Given the description of an element on the screen output the (x, y) to click on. 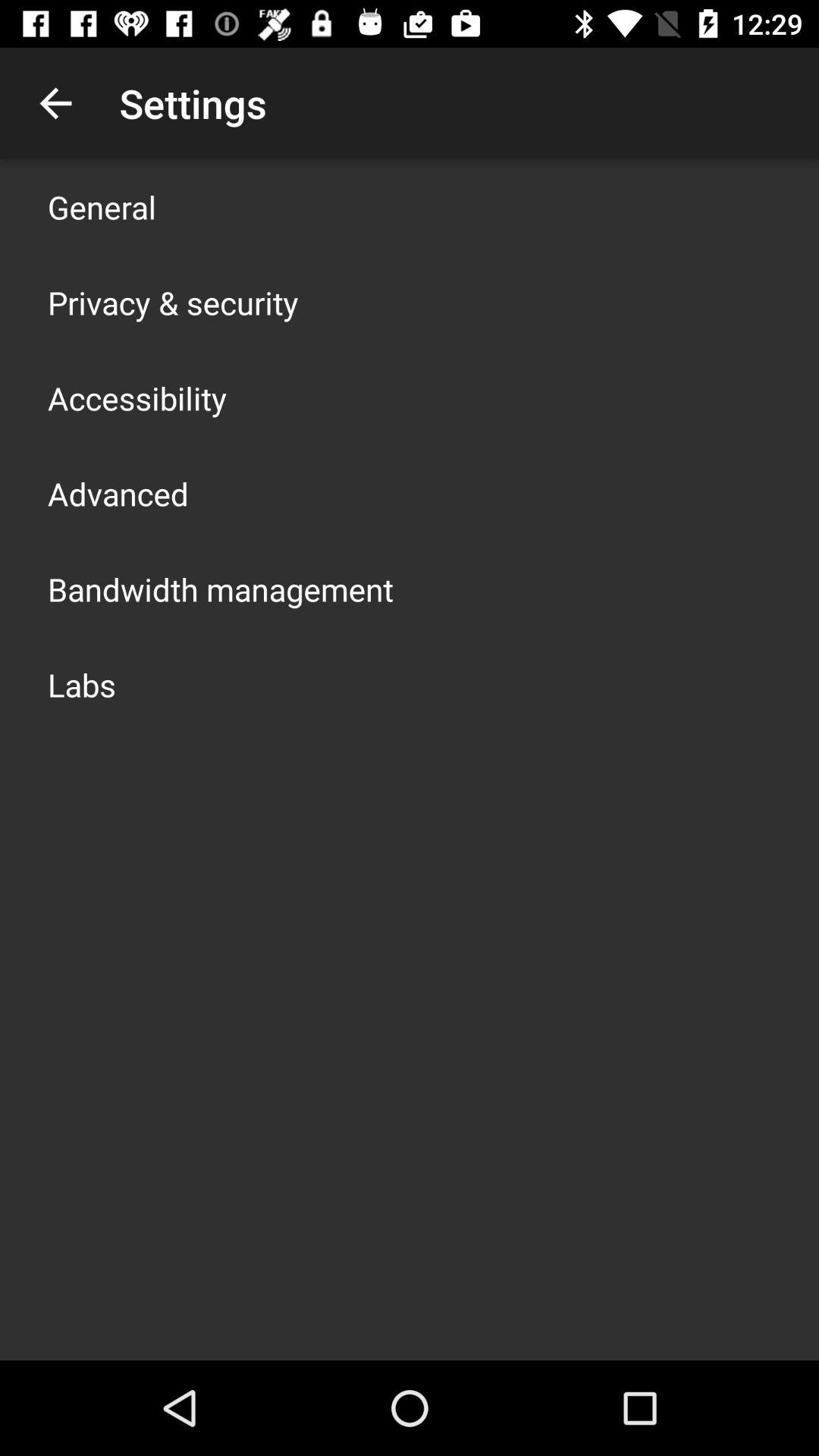
choose the icon above the accessibility app (172, 302)
